Given the description of an element on the screen output the (x, y) to click on. 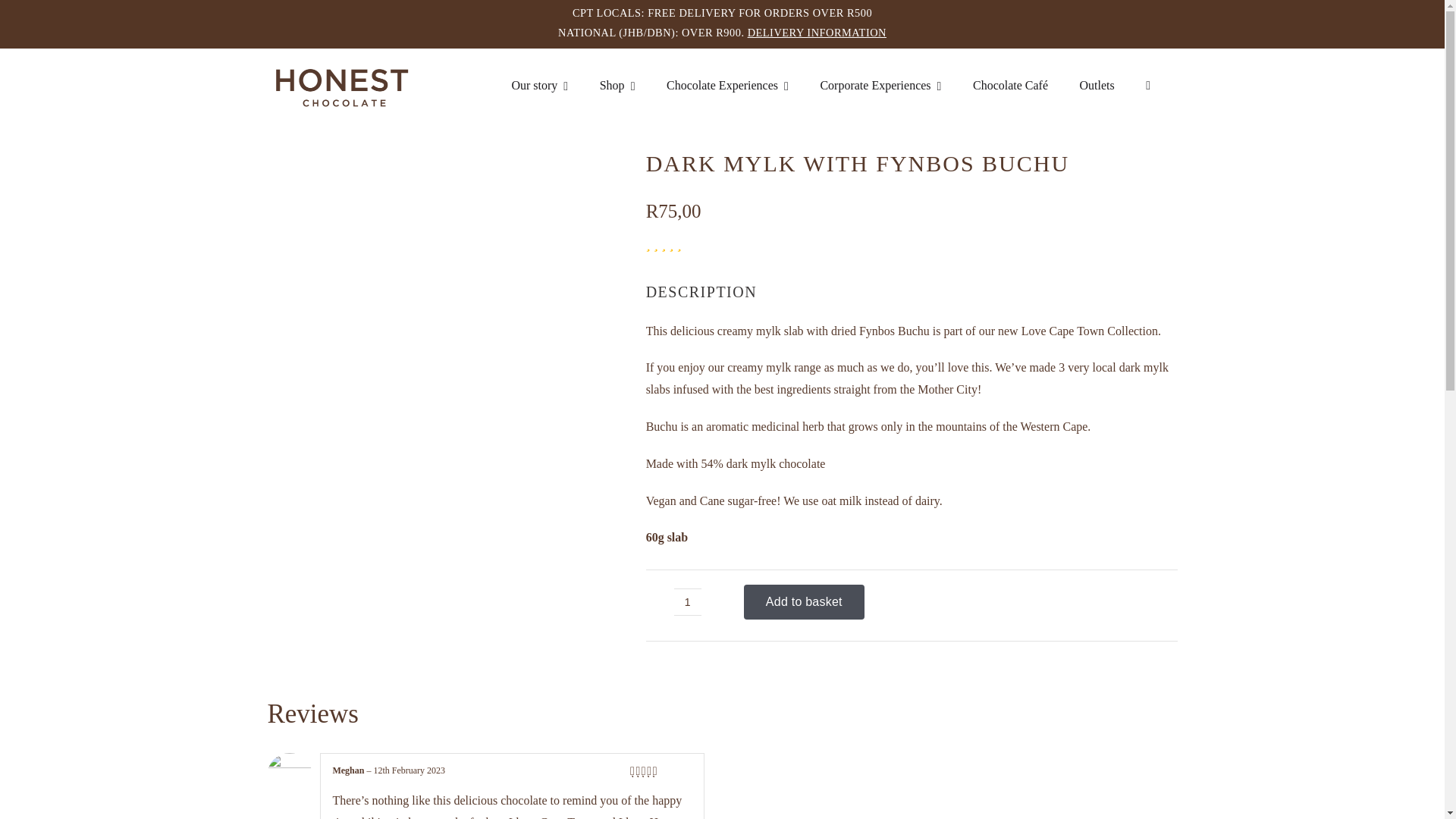
Corporate Experiences (880, 86)
Our story (539, 86)
Add to basket (804, 601)
1 (687, 601)
DELIVERY INFORMATION (817, 32)
Chocolate Experiences (727, 86)
